Given the description of an element on the screen output the (x, y) to click on. 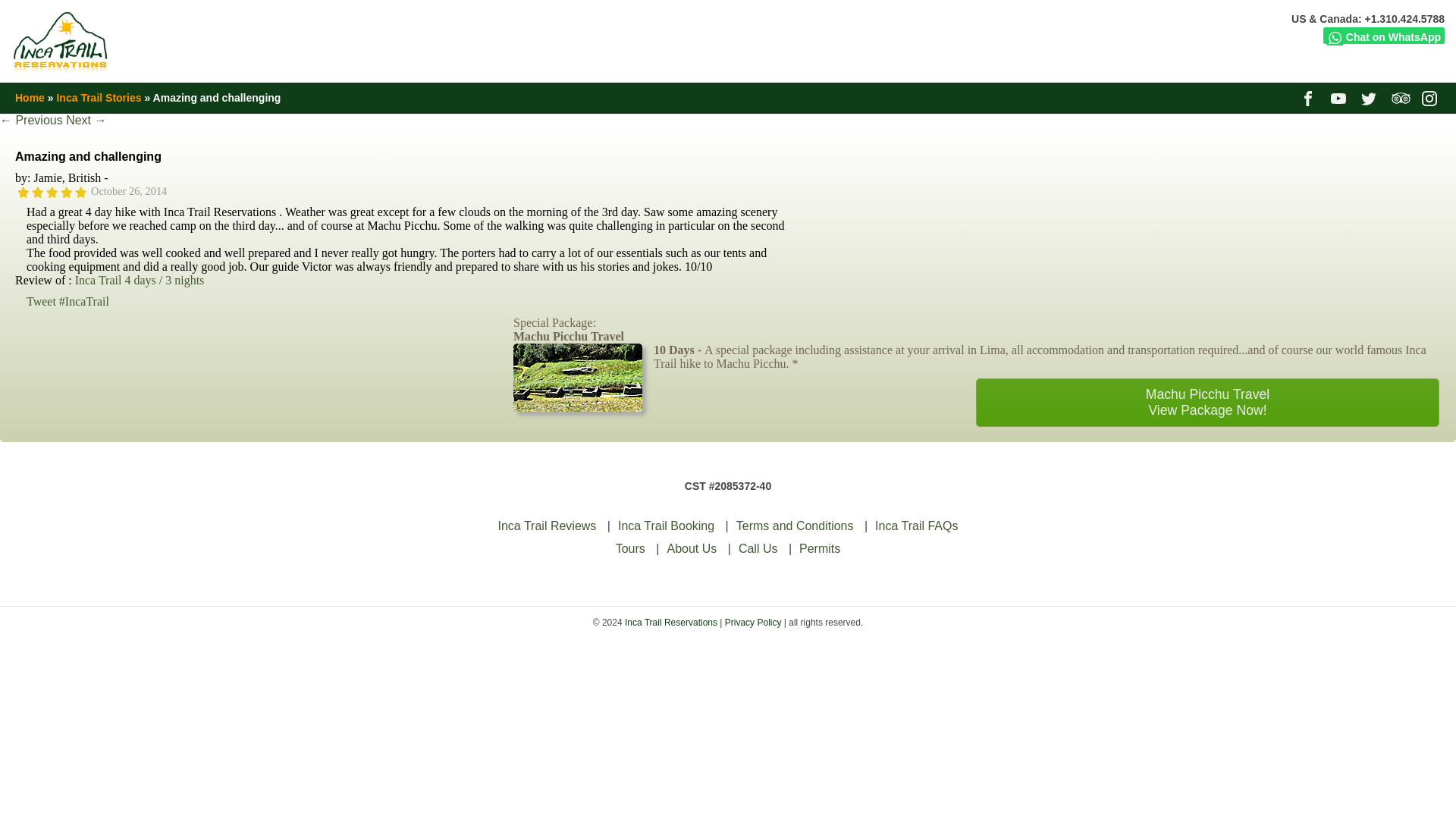
Privacy Policy (753, 622)
tripadvisor (1400, 97)
Inca Trail FAQs (916, 525)
Terms and Conditions (794, 525)
instagram (1431, 97)
youtube (1339, 97)
Inca Trail Reviews (546, 525)
Chat on WhatsApp (1383, 35)
About Us (691, 548)
Inca Trail Reservations (670, 622)
